Given the description of an element on the screen output the (x, y) to click on. 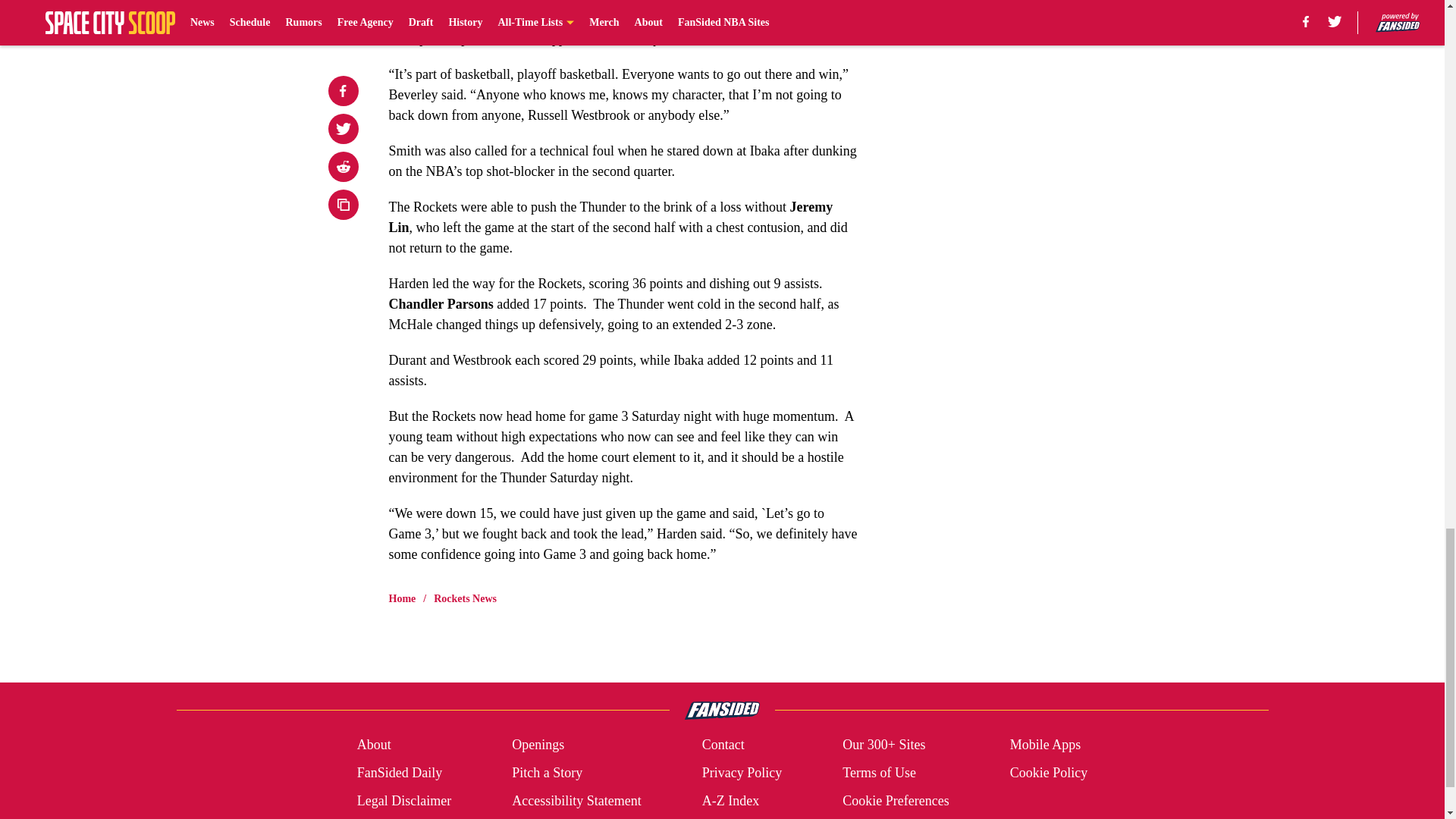
Cookie Policy (1048, 772)
Pitch a Story (547, 772)
Terms of Use (879, 772)
A-Z Index (729, 801)
About (373, 744)
Rockets News (464, 598)
Legal Disclaimer (403, 801)
Accessibility Statement (576, 801)
Mobile Apps (1045, 744)
Contact (722, 744)
FanSided Daily (399, 772)
Openings (538, 744)
Privacy Policy (742, 772)
Home (401, 598)
